Given the description of an element on the screen output the (x, y) to click on. 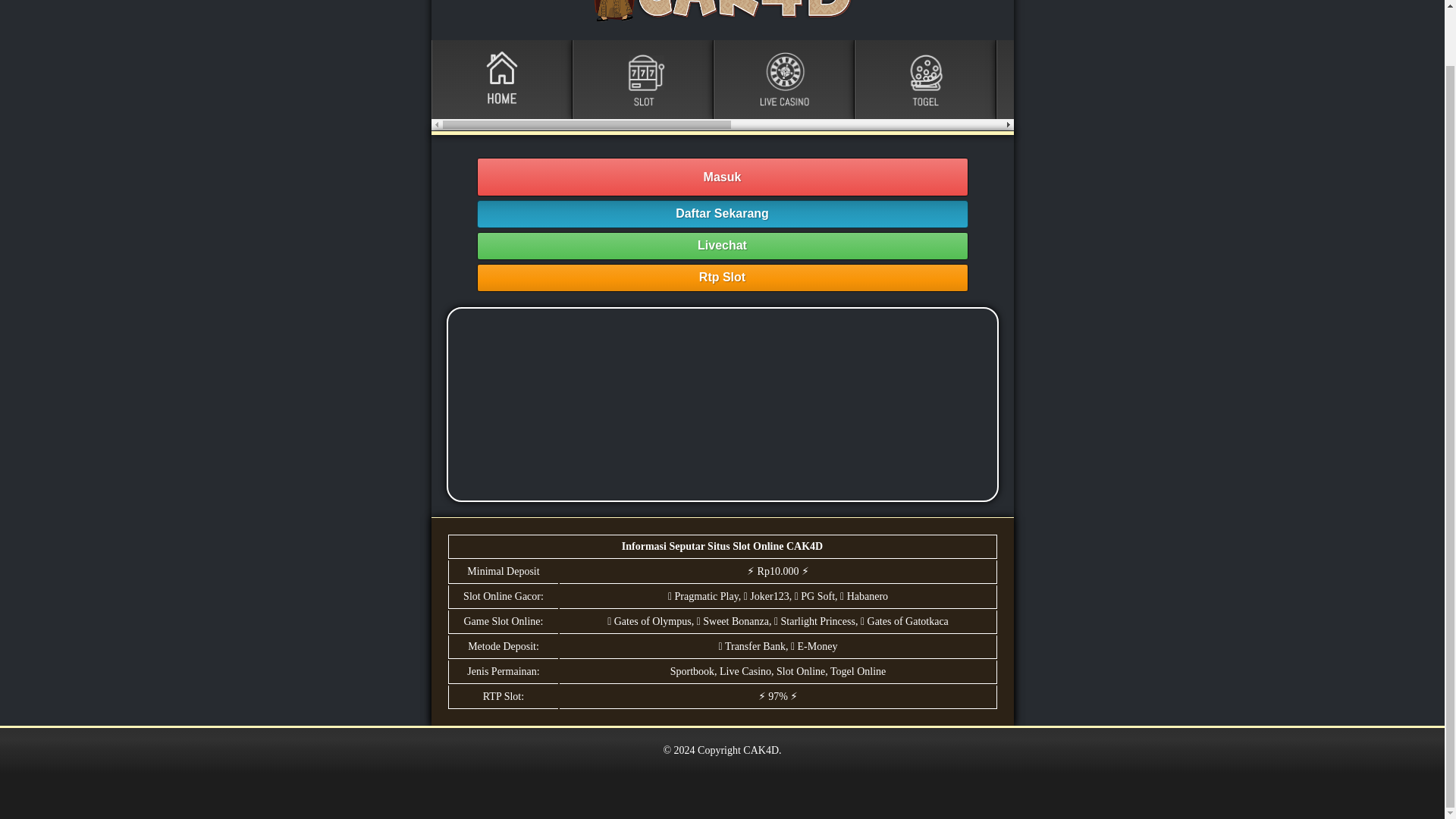
situs judi slot online gacor 2023 (720, 404)
Daftar Sekarang (722, 213)
Rtp Slot (722, 277)
Masuk (722, 177)
Livechat (722, 245)
